Given the description of an element on the screen output the (x, y) to click on. 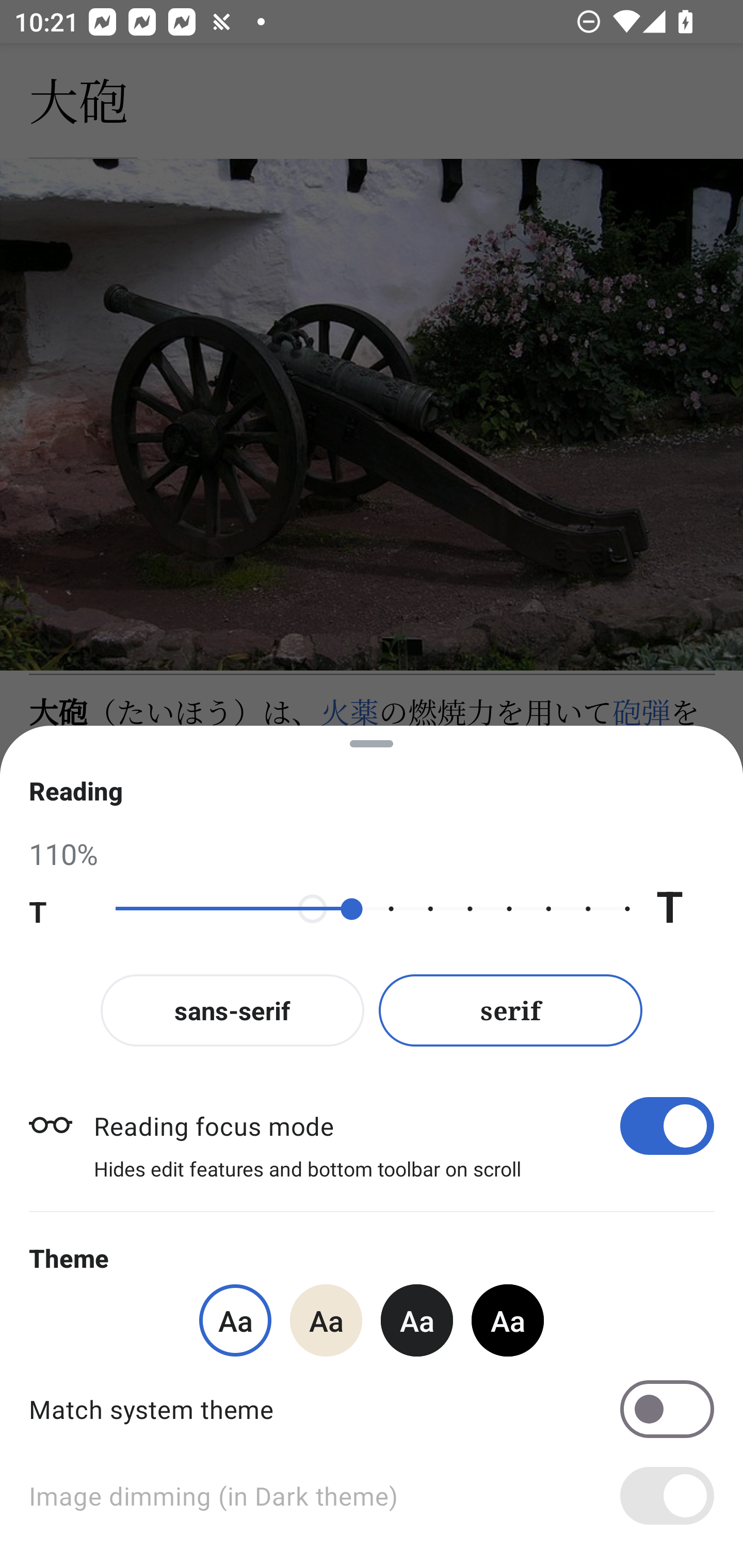
T Decrease text size (57, 909)
T Increase text size (685, 909)
sans-serif (232, 1010)
serif (510, 1010)
Reading focus mode (403, 1125)
Aa (325, 1320)
Aa (416, 1320)
Aa (507, 1320)
Match system theme (371, 1408)
Image dimming (in Dark theme) (371, 1495)
